Given the description of an element on the screen output the (x, y) to click on. 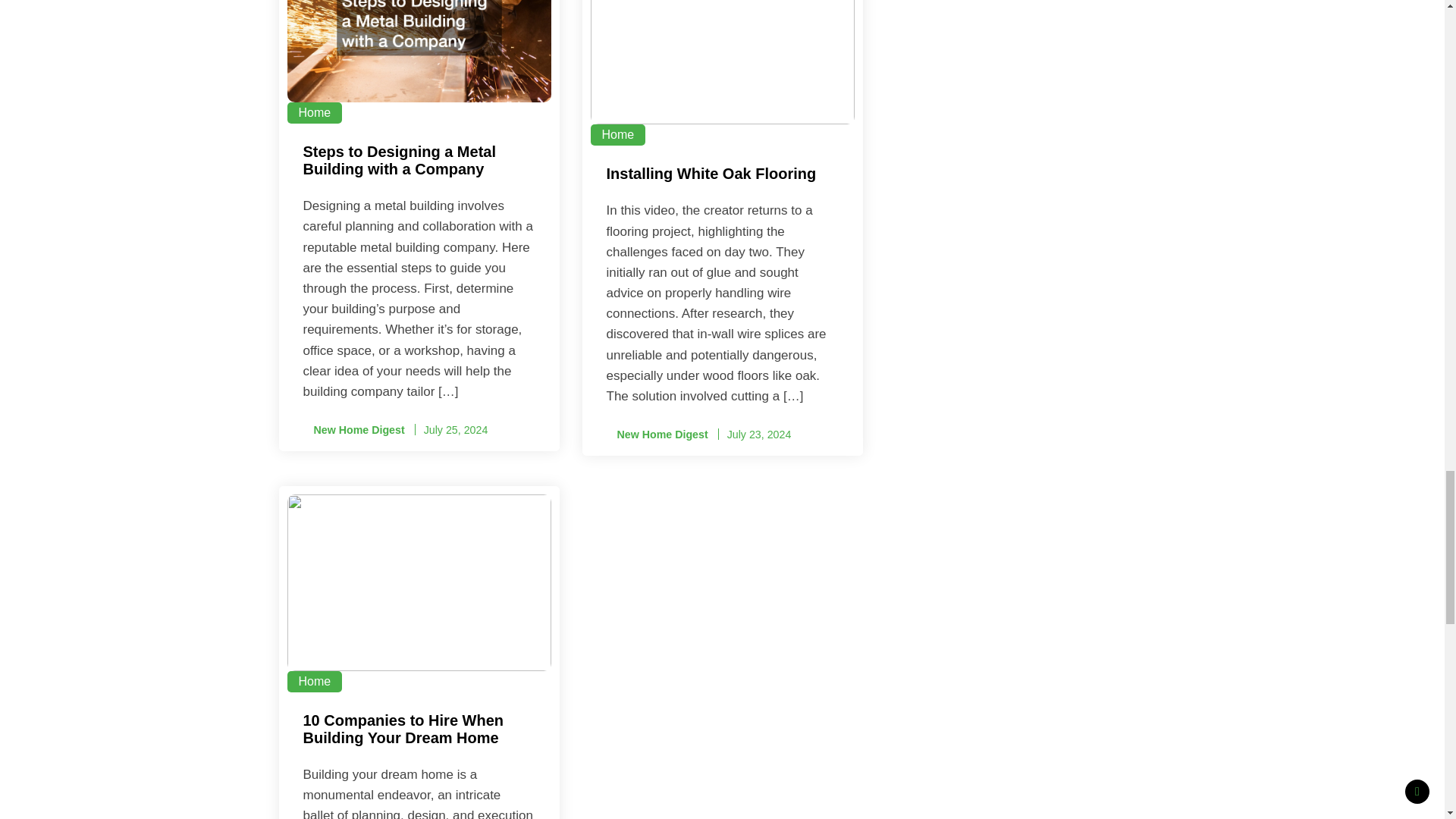
New Home Digest (657, 434)
10 Companies to Hire When Building Your Dream Home (418, 731)
Steps to Designing a Metal Building with a Company (418, 162)
July 25, 2024 (455, 429)
Home (314, 112)
Home (617, 134)
New Home Digest (353, 429)
July 23, 2024 (759, 434)
Installing White Oak Flooring (722, 176)
Home (314, 681)
